Given the description of an element on the screen output the (x, y) to click on. 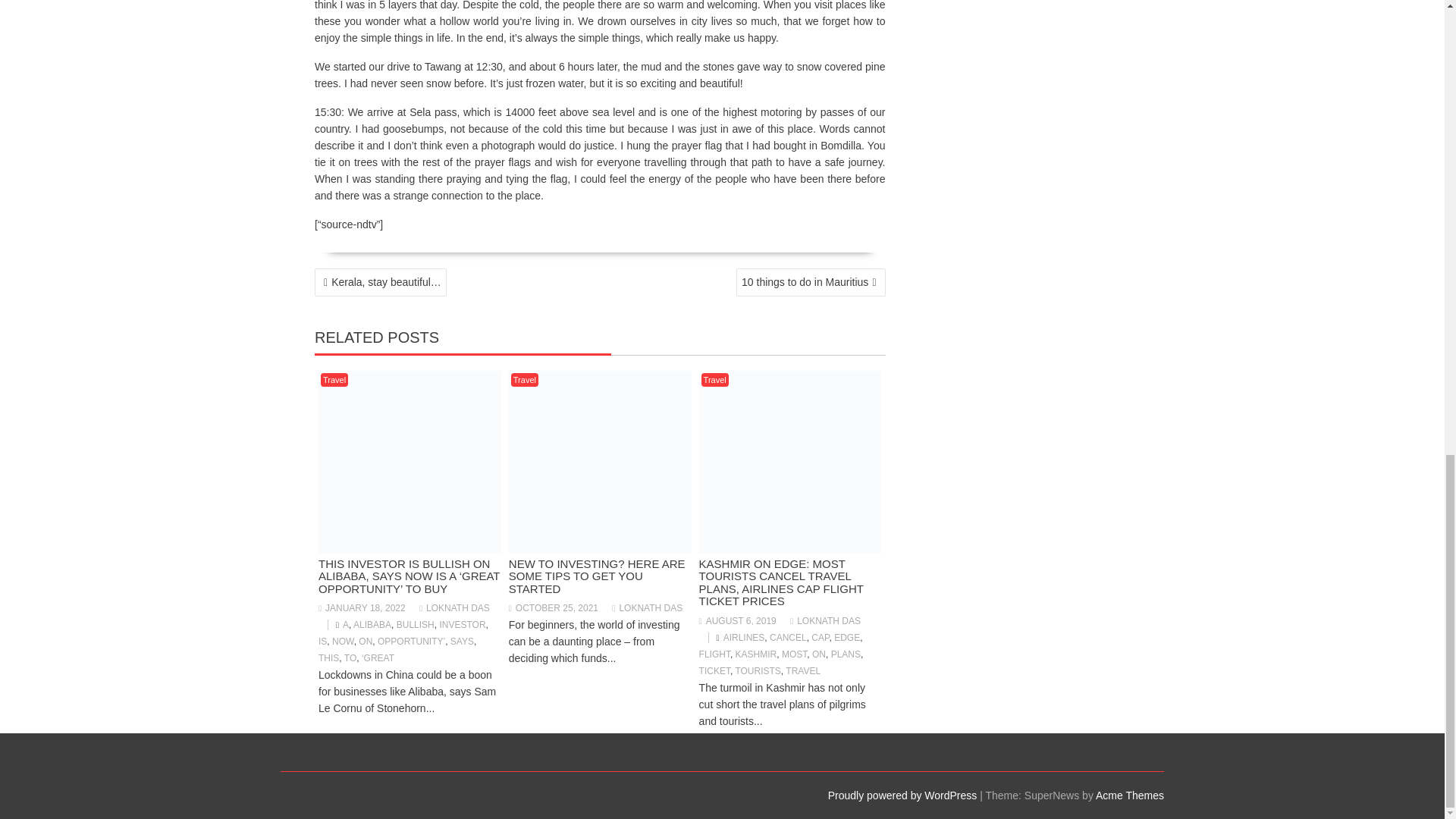
Travel (333, 379)
LOKNATH DAS (454, 607)
ALIBABA (372, 624)
INVESTOR (461, 624)
10 things to do in Mauritius (810, 282)
BULLISH (414, 624)
JANUARY 18, 2022 (362, 607)
